Given the description of an element on the screen output the (x, y) to click on. 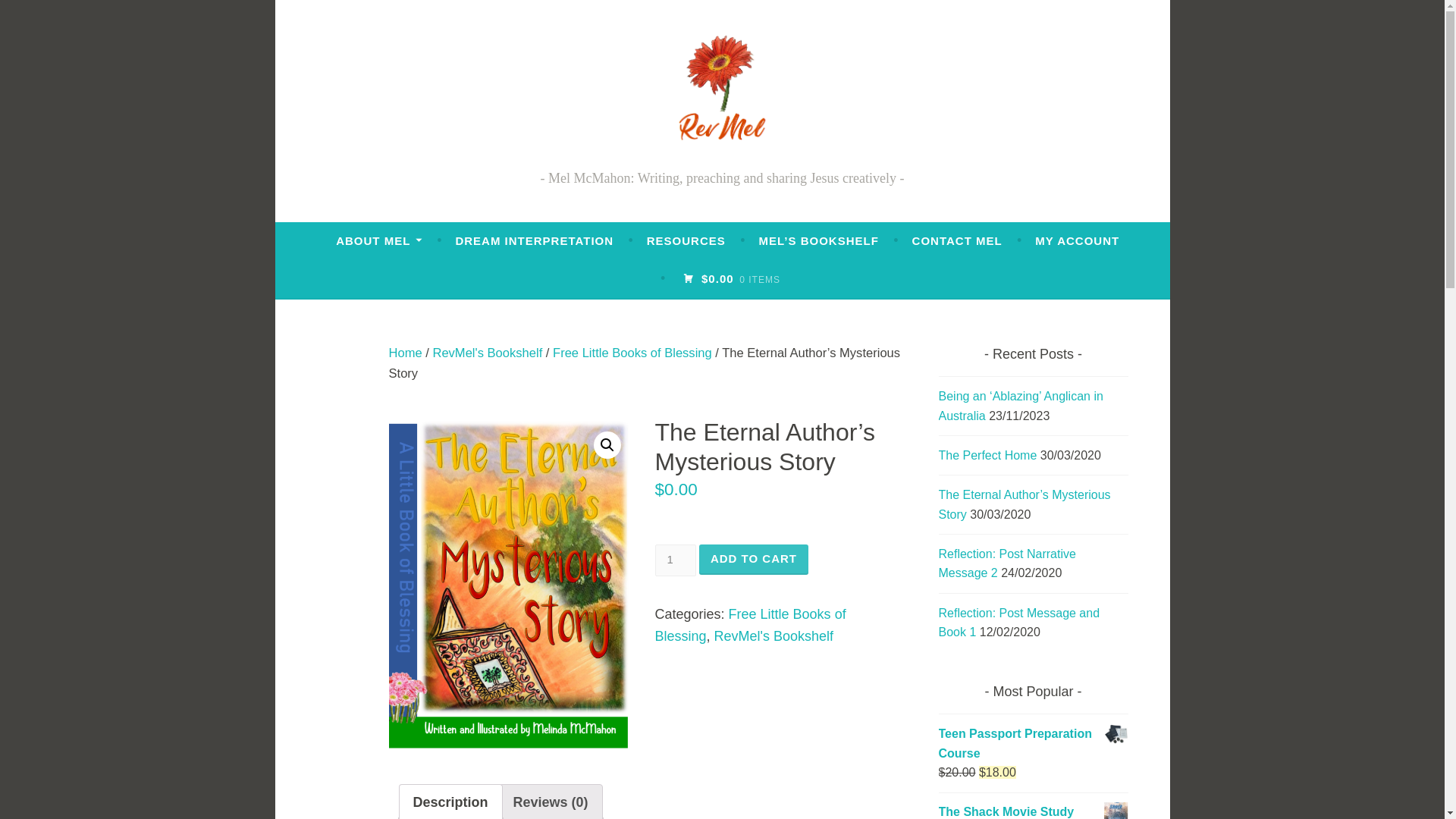
CONTACT MEL (957, 240)
The Perfect Home (987, 454)
Home (405, 352)
RevMel's Bookshelf (486, 352)
Reflection: Post Narrative Message 2 (1007, 563)
RESOURCES (685, 240)
View your shopping cart (731, 278)
MY ACCOUNT (1077, 240)
1 (675, 560)
Free Little Books of Blessing (750, 624)
RevMel's Bookshelf (774, 635)
DREAM INTERPRETATION (533, 240)
Free Little Books of Blessing (632, 352)
ABOUT MEL (379, 240)
Description (449, 801)
